Given the description of an element on the screen output the (x, y) to click on. 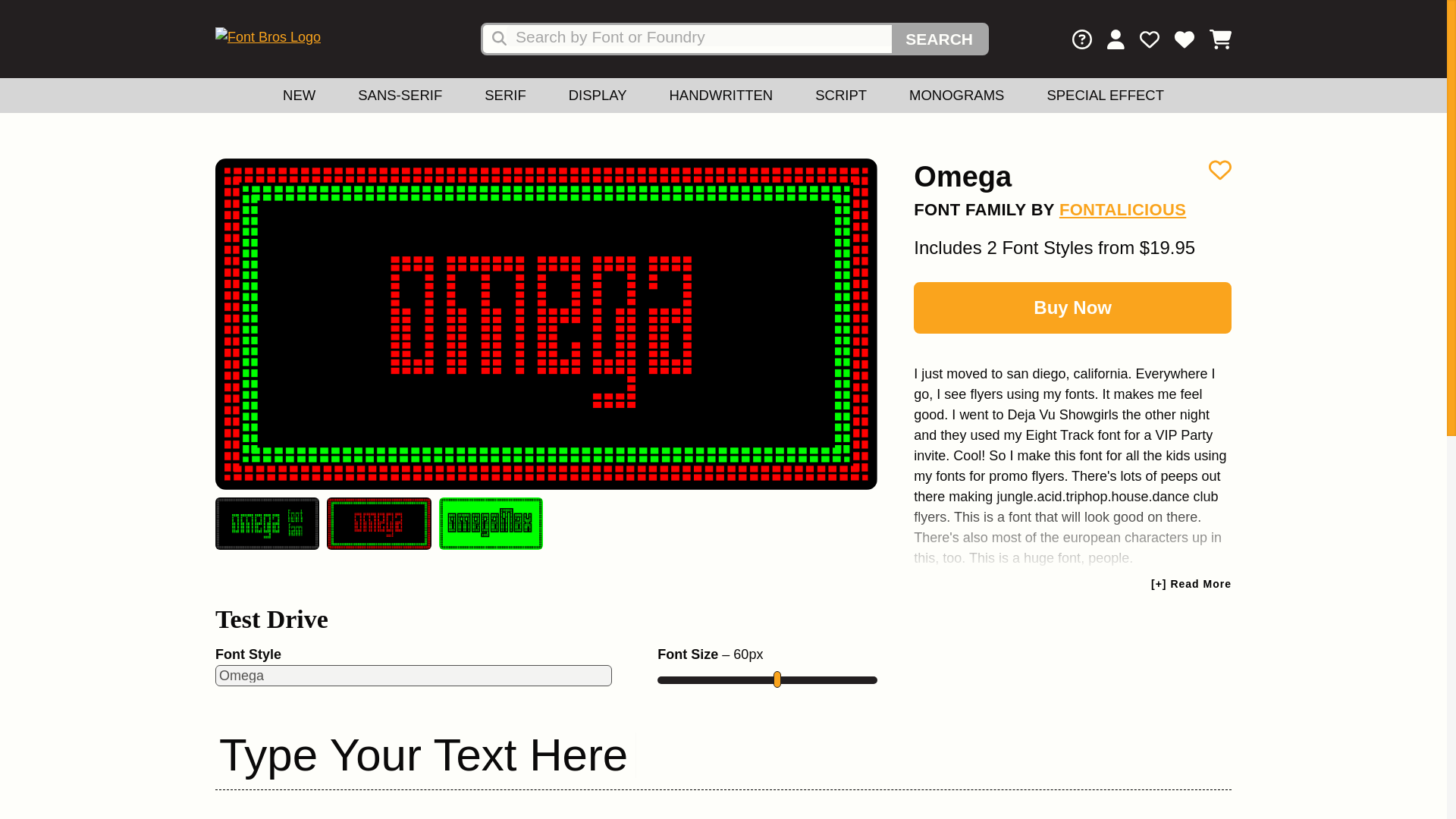
FAQs (1081, 42)
Search (939, 39)
NEW (299, 95)
MONOGRAMS (956, 95)
View Your Shopping Cart (1212, 42)
Buy Now (1072, 307)
DISPLAY (597, 95)
SCRIPT (840, 95)
SPECIAL EFFECT (1105, 95)
SERIF (505, 95)
